Given the description of an element on the screen output the (x, y) to click on. 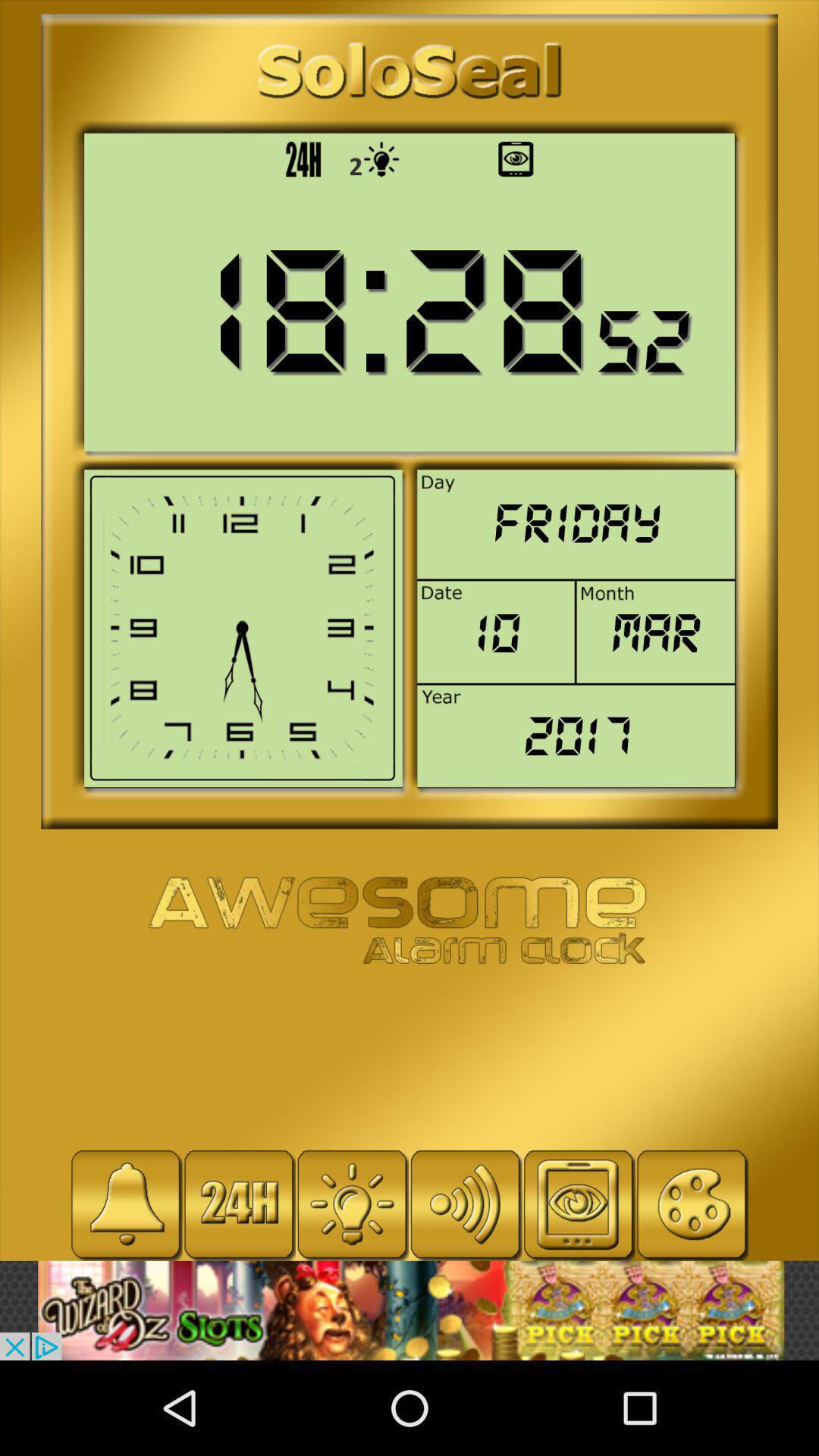
go to bright ness button (351, 1203)
